Given the description of an element on the screen output the (x, y) to click on. 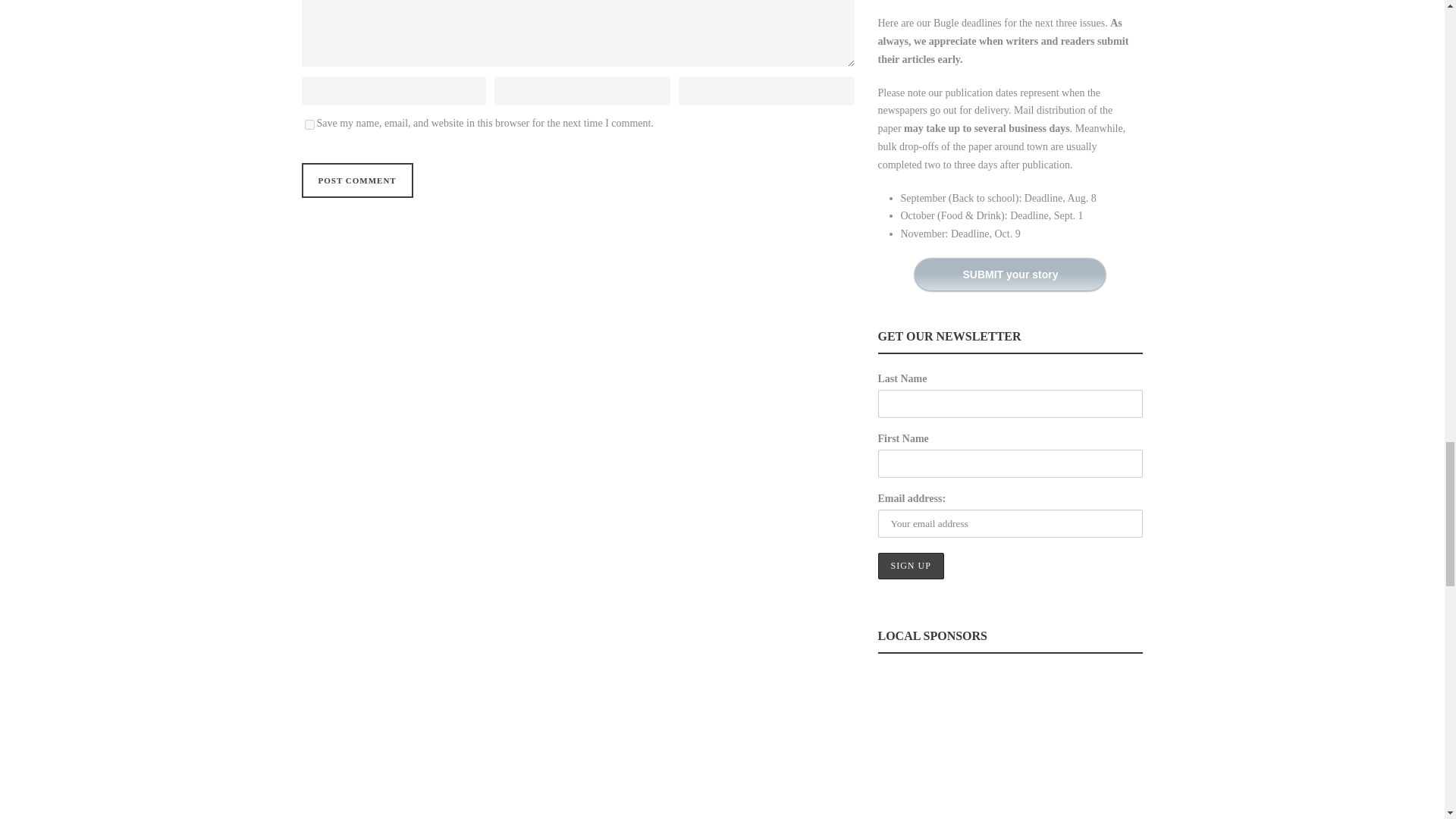
yes (309, 124)
Post Comment (357, 180)
Sign up (910, 565)
